Given the description of an element on the screen output the (x, y) to click on. 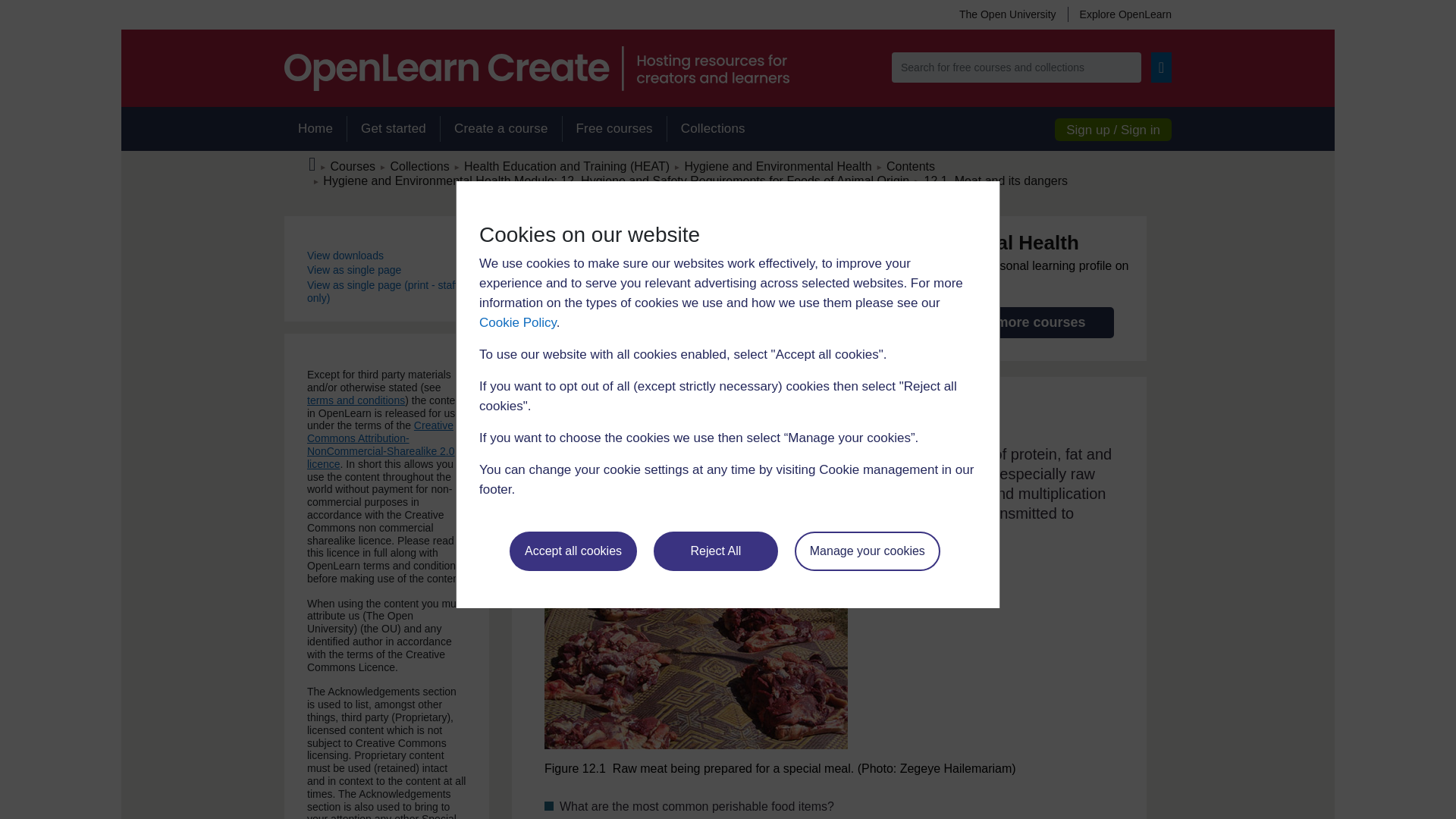
OpenLearn Create (536, 67)
The Open University (1007, 14)
Home (314, 128)
Free courses (614, 128)
The Open University (1007, 14)
Get started (392, 128)
Explore OpenLearn (1119, 14)
Accept all cookies (573, 550)
SC Web Editor (615, 180)
Cookie Policy (517, 322)
Explore OpenLearn (1119, 14)
Create a course (500, 128)
Manage your cookies (867, 550)
Reject All (715, 550)
Collections (712, 128)
